Given the description of an element on the screen output the (x, y) to click on. 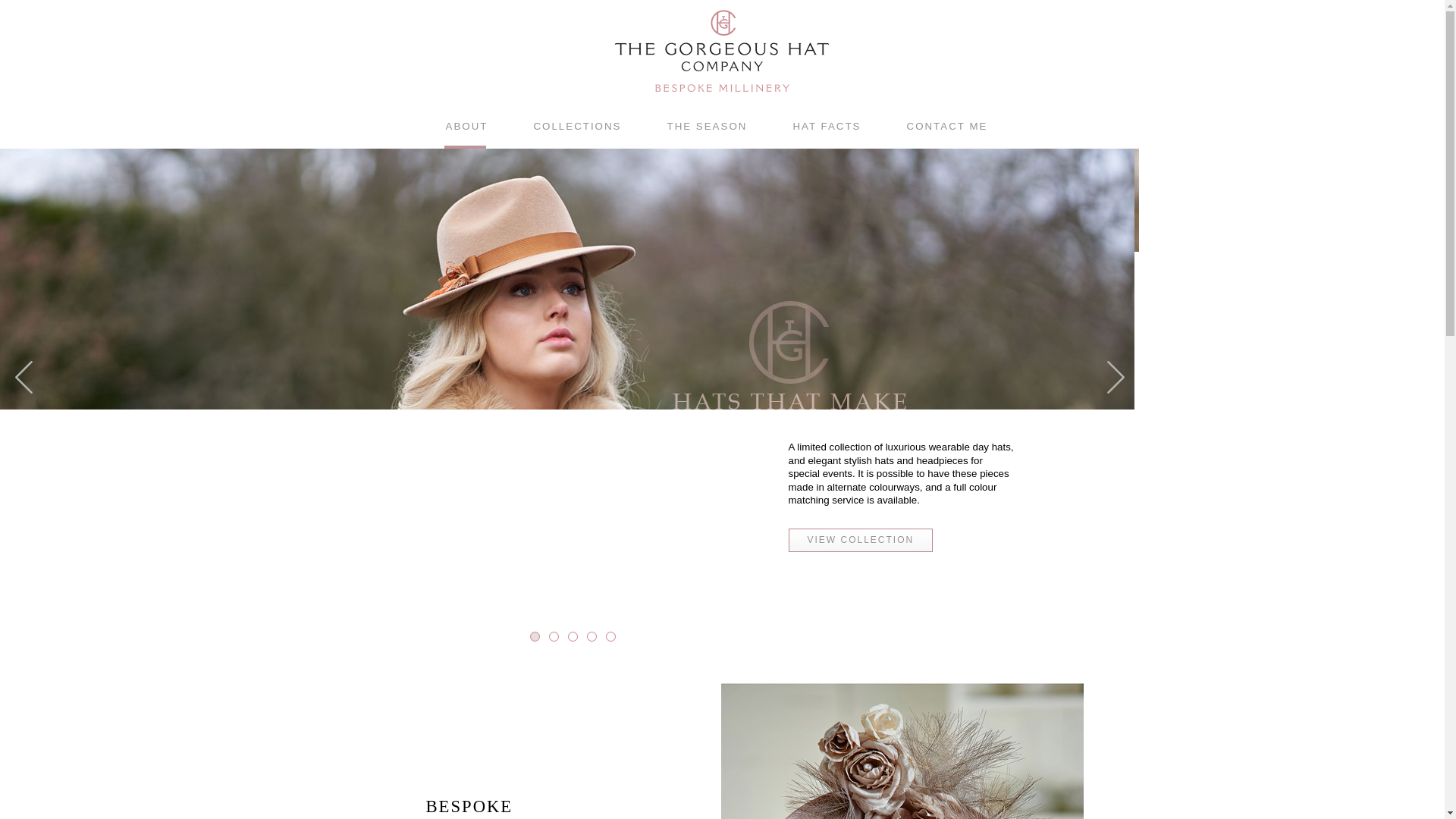
VIEW COLLECTION (861, 540)
